Given the description of an element on the screen output the (x, y) to click on. 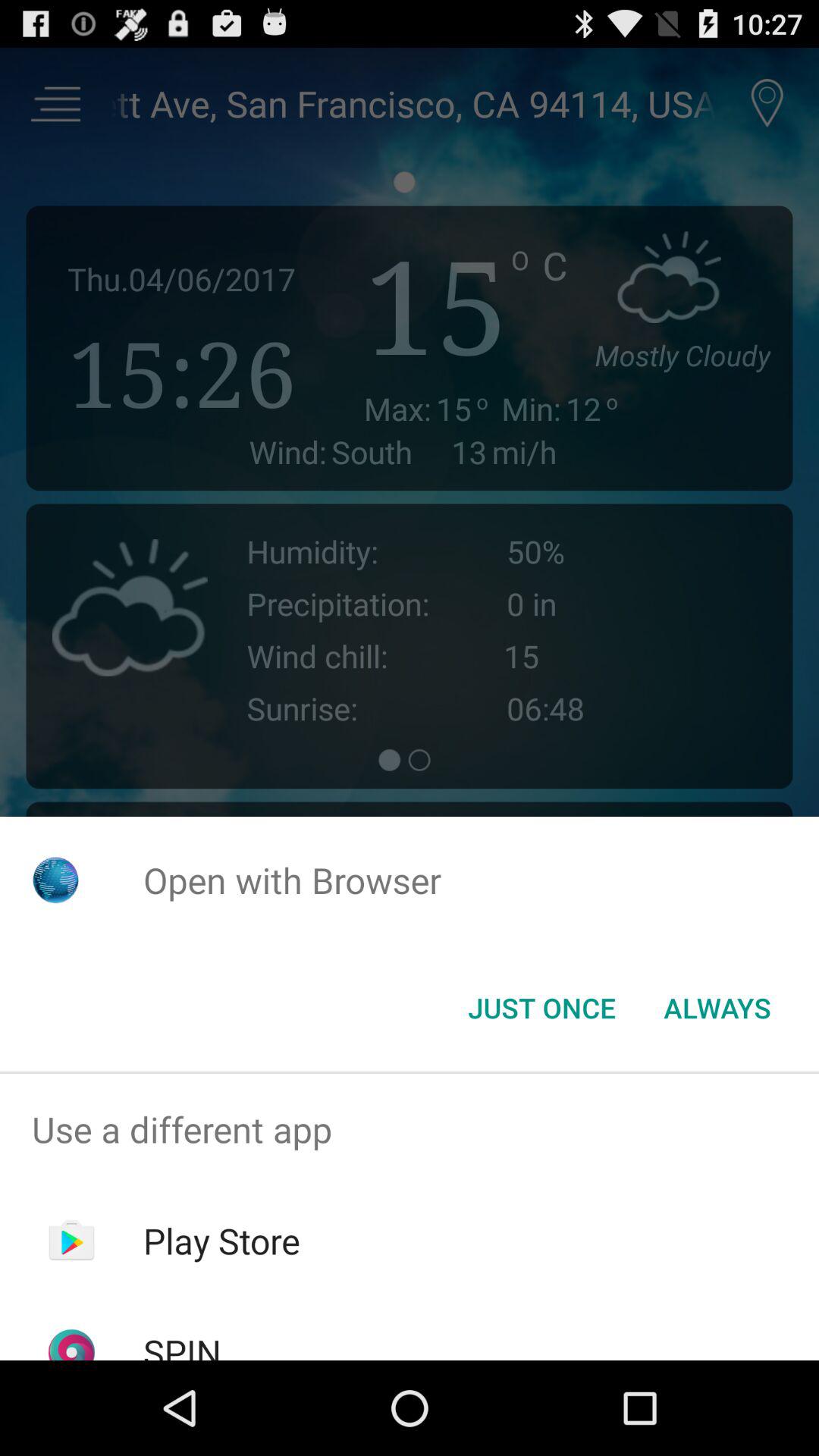
choose icon next to always (541, 1007)
